Given the description of an element on the screen output the (x, y) to click on. 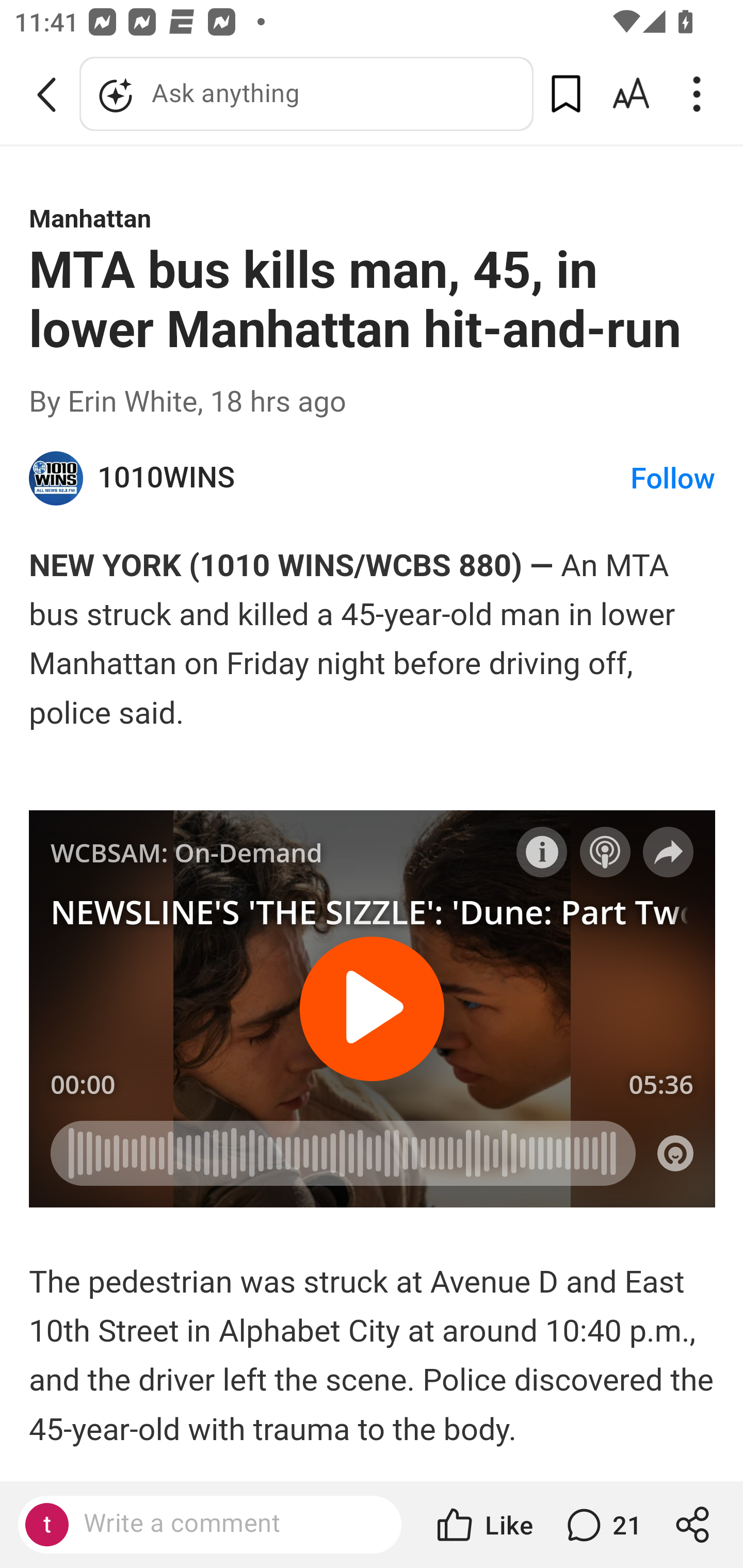
Ask anything (306, 93)
1010WINS (56, 479)
1010WINS (364, 477)
Follow (673, 478)
Info (542, 851)
Follow (605, 851)
Share (668, 851)
Play (372, 1007)
Powered by Omny Studio (675, 1152)
Like (483, 1524)
21 (601, 1524)
Write a comment (226, 1523)
